Given the description of an element on the screen output the (x, y) to click on. 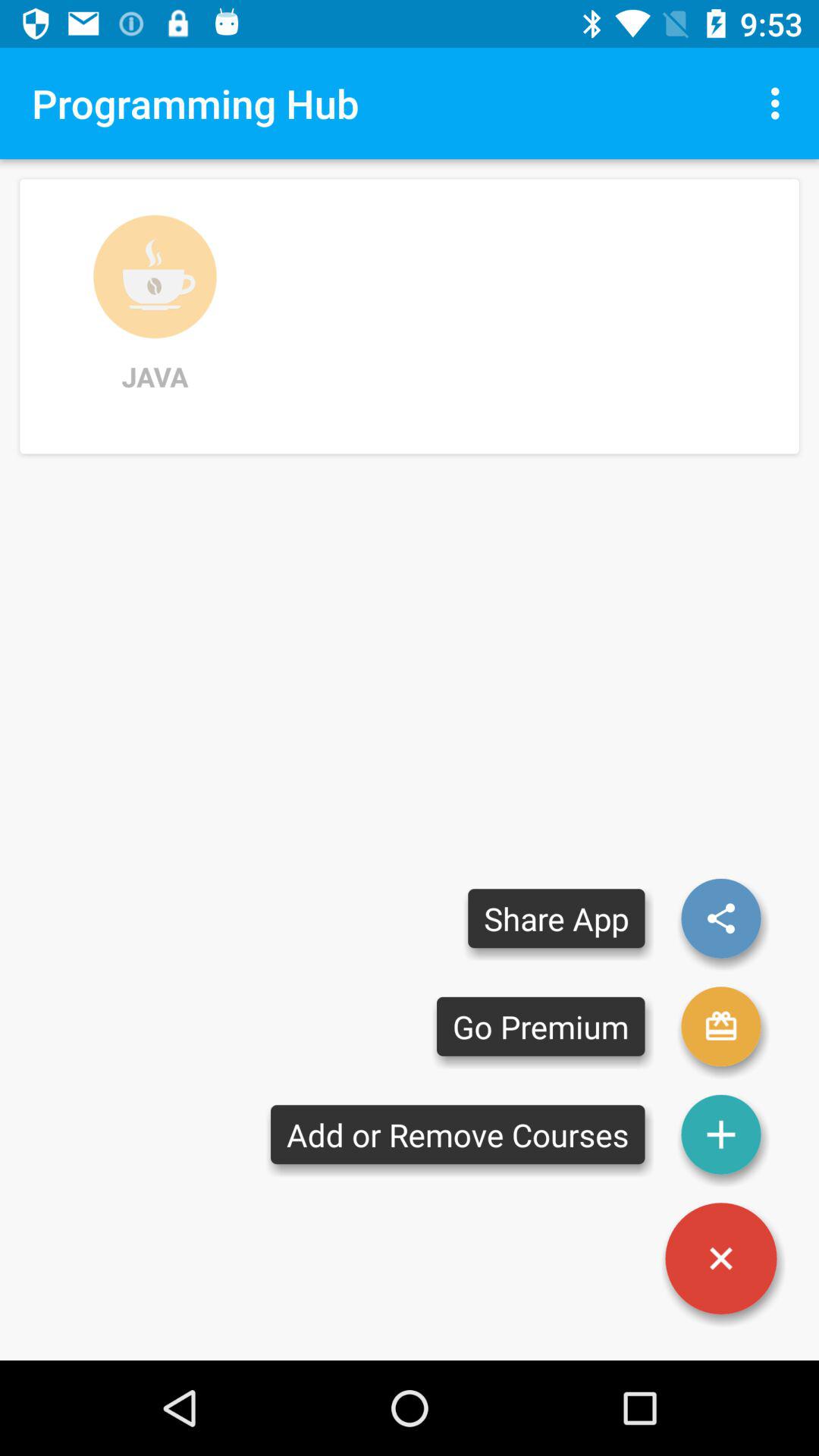
click icon below share app (540, 1026)
